Given the description of an element on the screen output the (x, y) to click on. 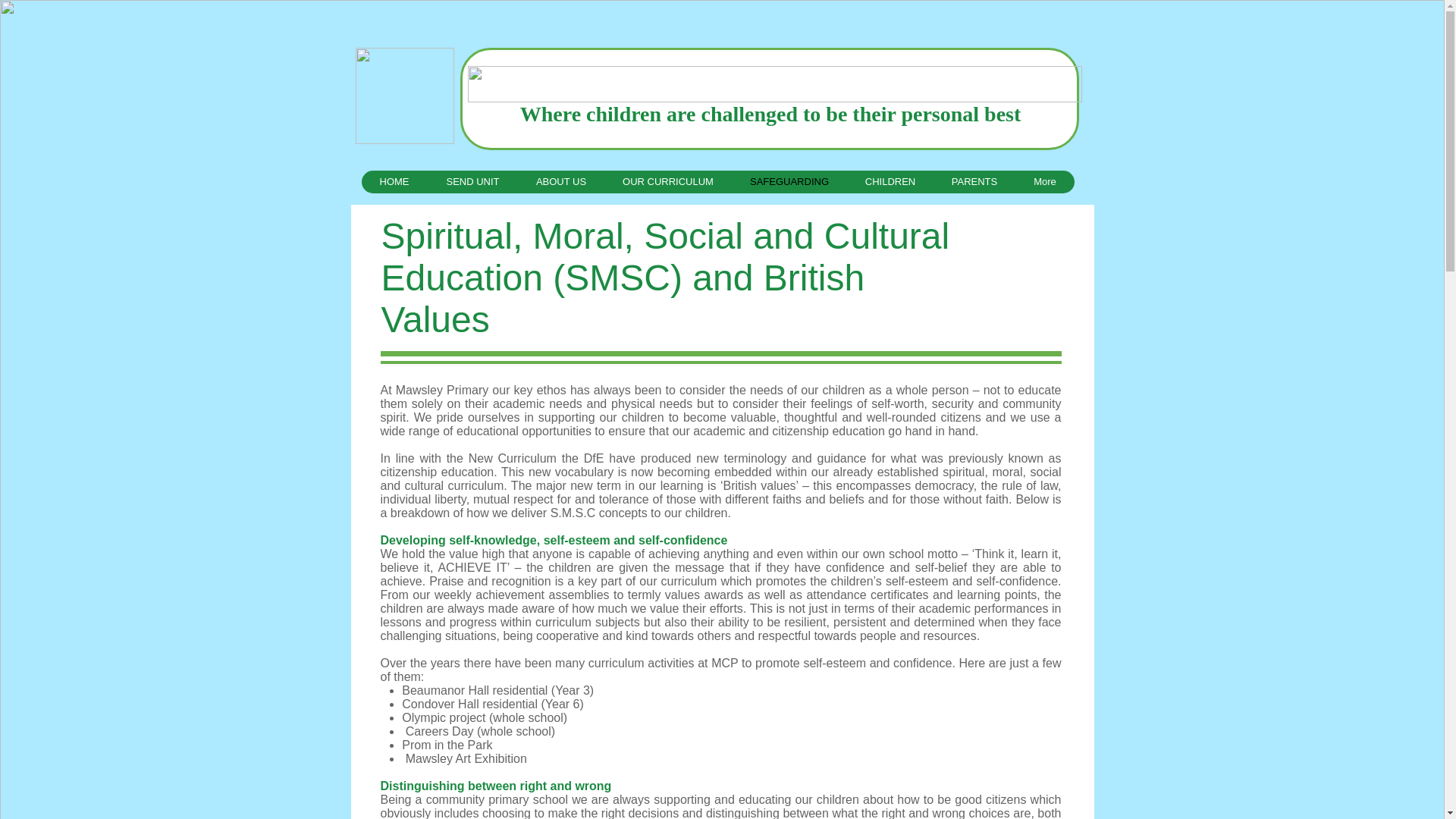
CHILDREN (889, 181)
HOME (393, 181)
OUR CURRICULUM (667, 181)
ABOUT US (560, 181)
SAFEGUARDING (787, 181)
SEND UNIT (473, 181)
